Given the description of an element on the screen output the (x, y) to click on. 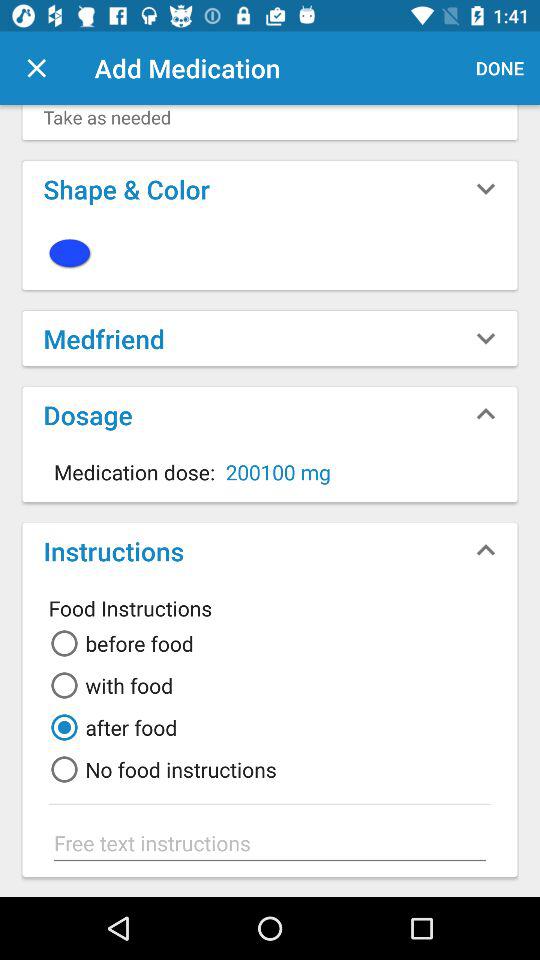
flip until the take as needed (269, 122)
